Given the description of an element on the screen output the (x, y) to click on. 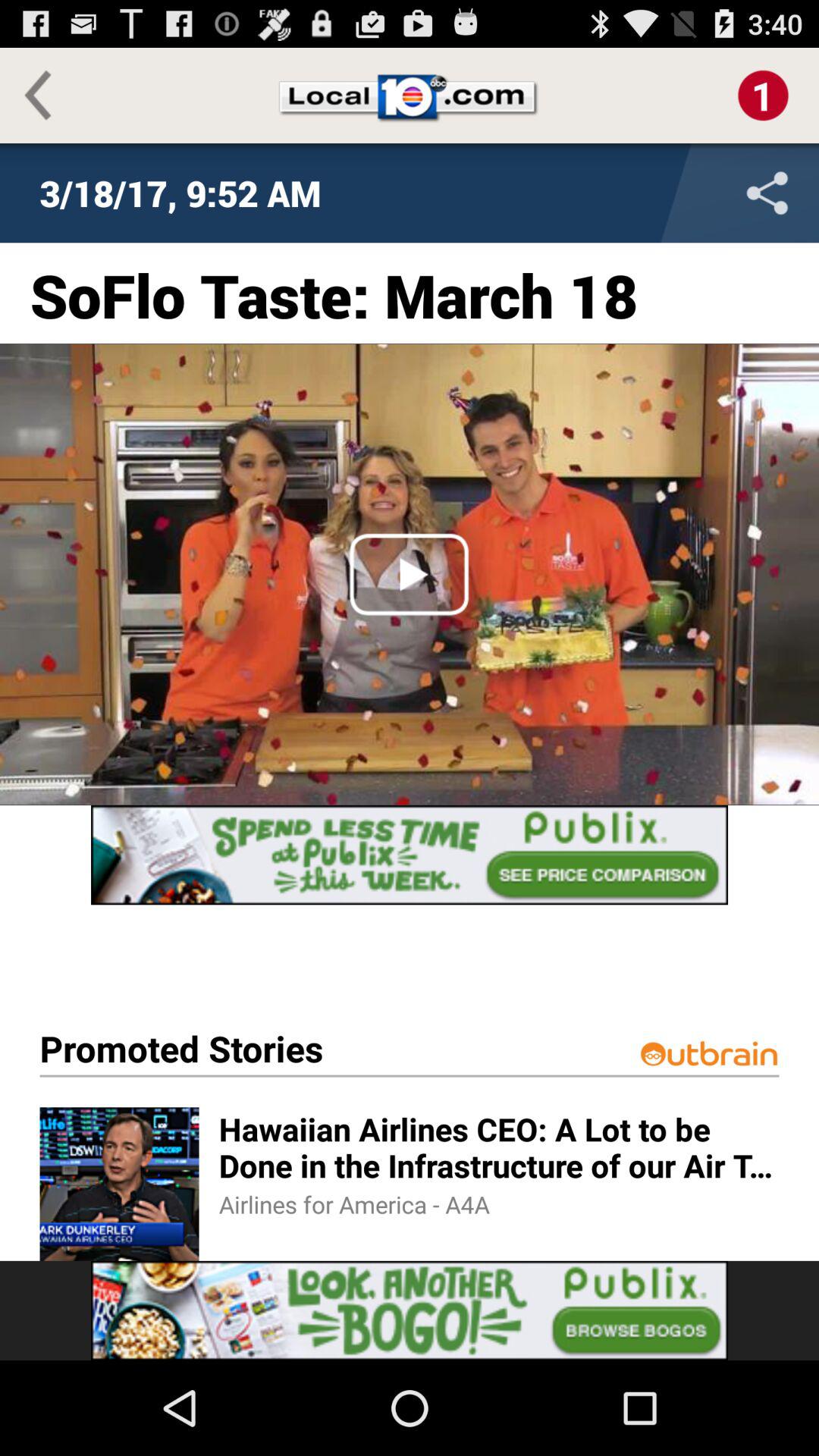
advertisement link (409, 1310)
